Given the description of an element on the screen output the (x, y) to click on. 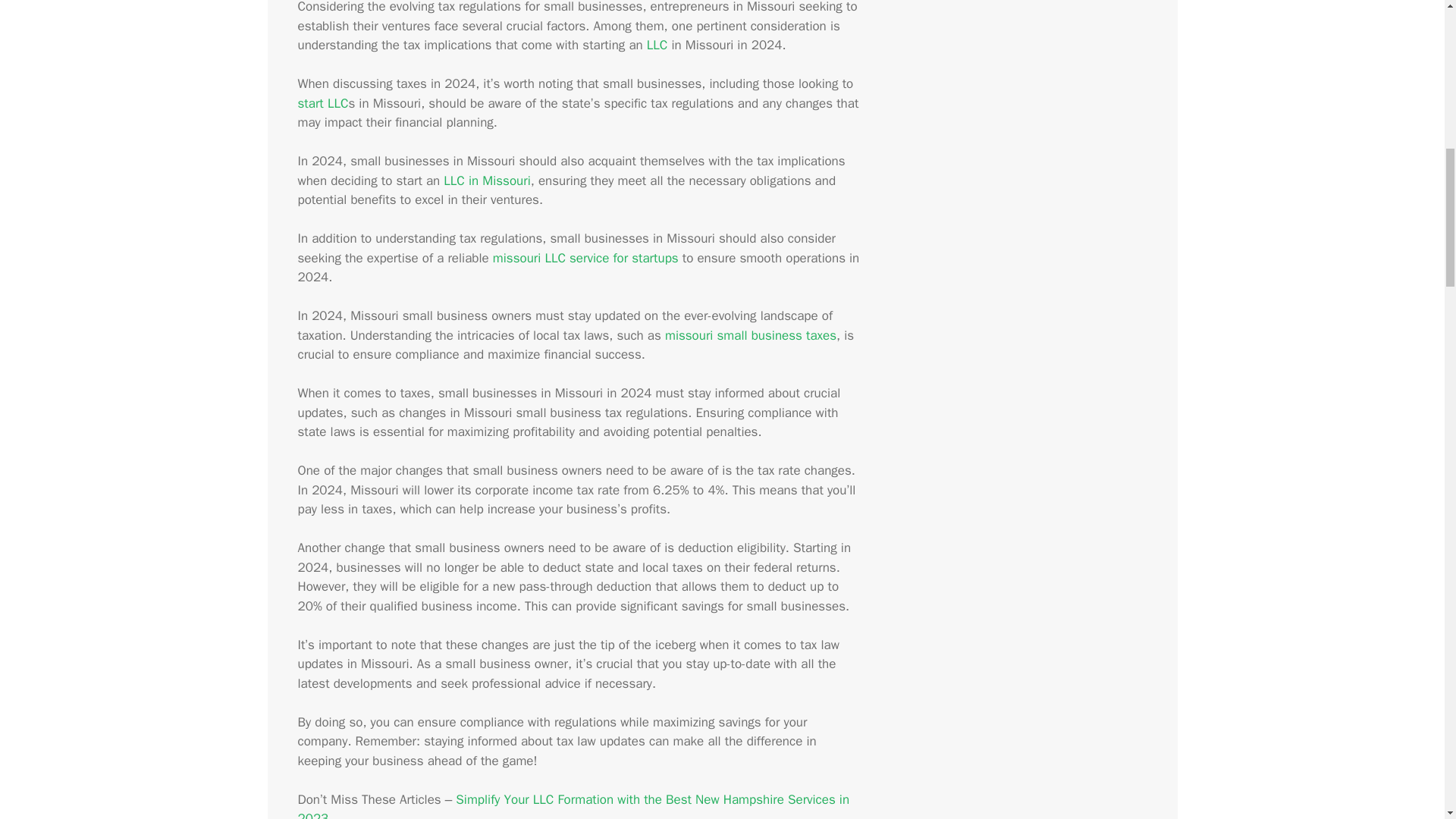
LLC in Missouri (486, 180)
missouri LLC service for startups (585, 258)
missouri small business taxes (750, 335)
Completing the Missouri LLC Formation in 2024 (486, 180)
How to Set Up an LLC in 2023: A Step-by-Step Guide (657, 44)
How to Set Up an LLC in 2023: A Step-by-Step Guide (322, 103)
LLC (657, 44)
start LLC (322, 103)
